Given the description of an element on the screen output the (x, y) to click on. 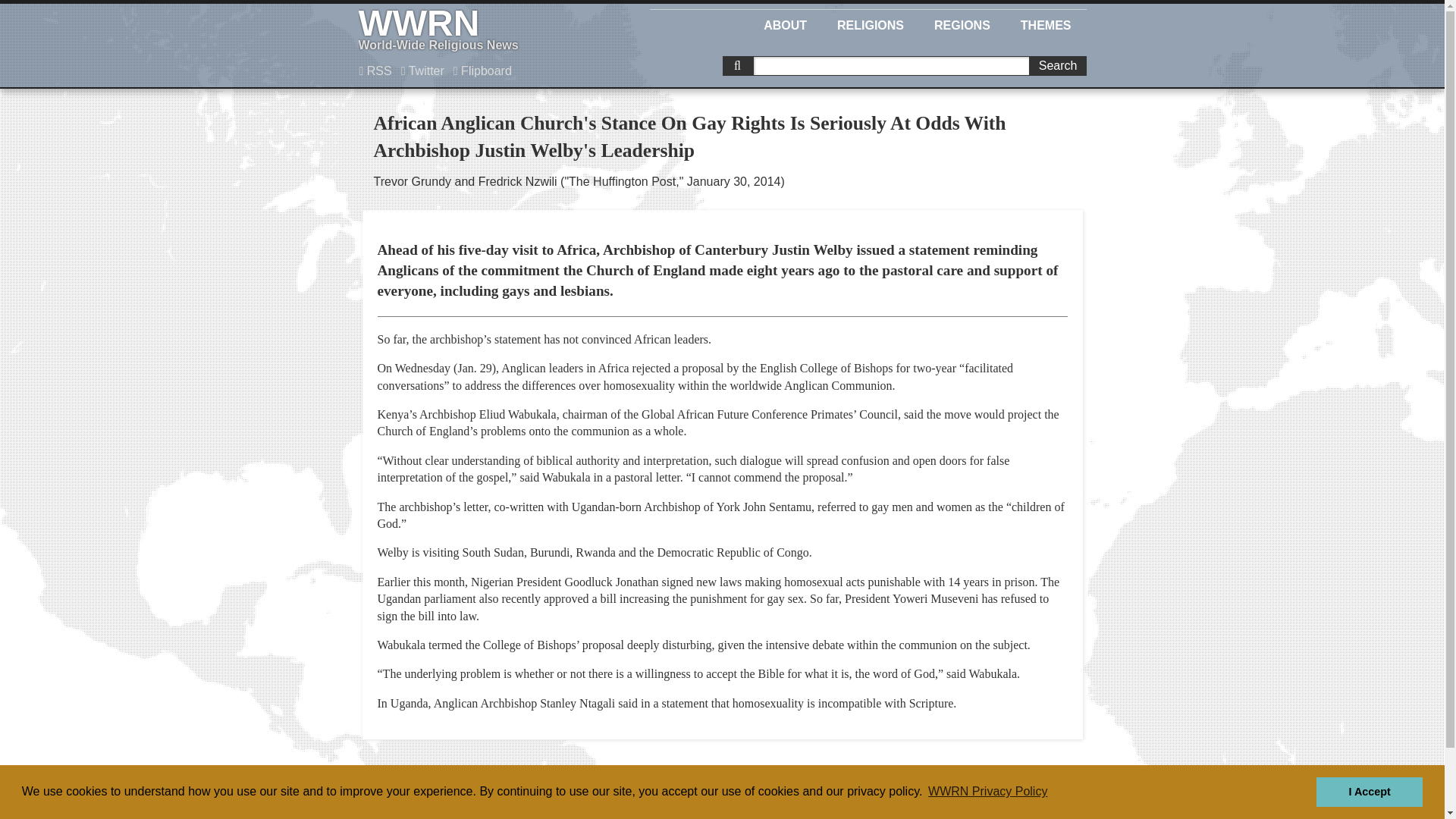
Flipboard (482, 70)
WWRN Privacy Policy (987, 791)
THEMES (1046, 23)
Search (485, 31)
I Accept (1057, 66)
REGIONS (1369, 791)
RELIGIONS (962, 23)
ABOUT (870, 23)
RSS (785, 23)
